Given the description of an element on the screen output the (x, y) to click on. 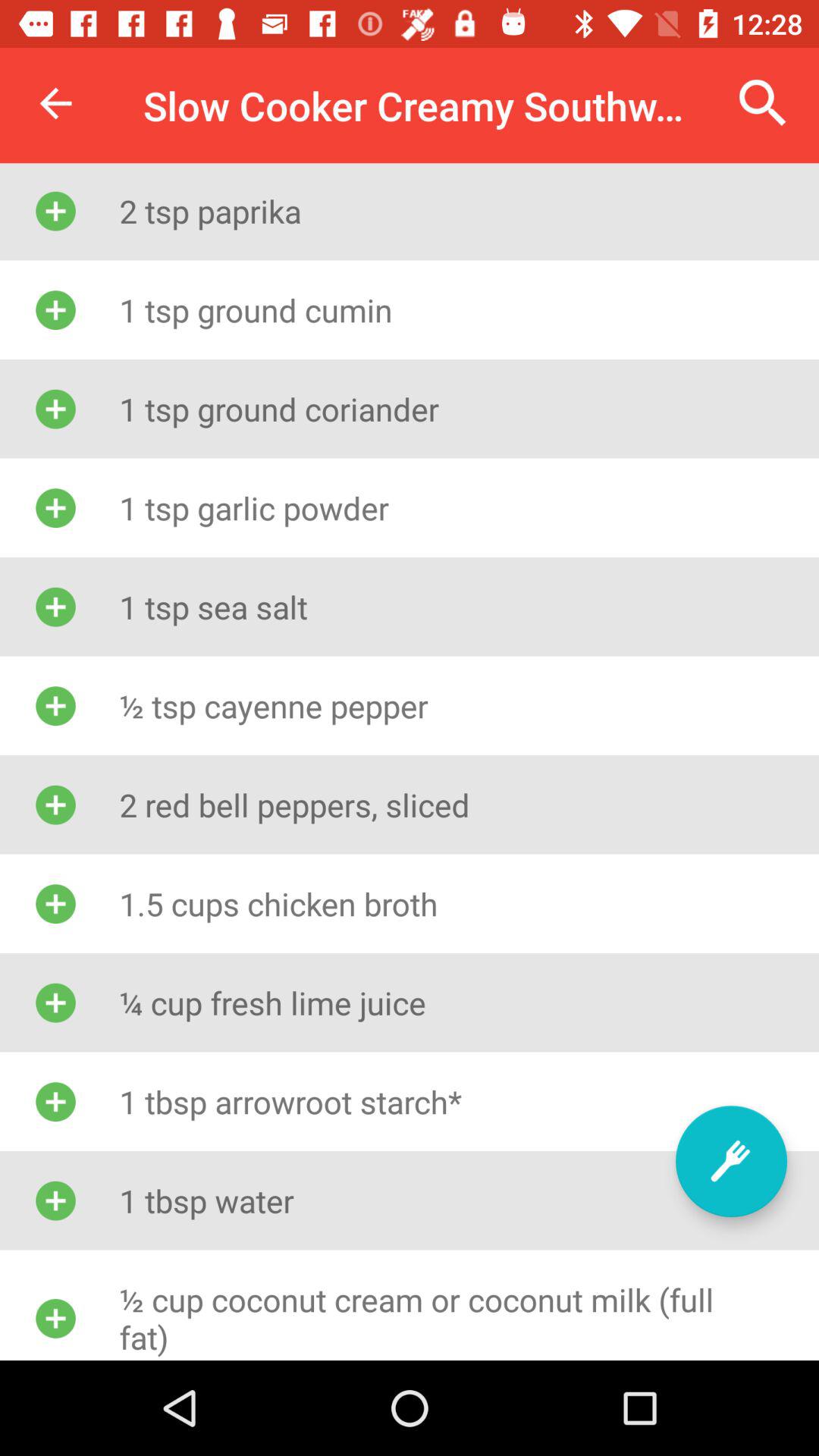
open the item to the right of the slow cooker creamy (763, 103)
